Given the description of an element on the screen output the (x, y) to click on. 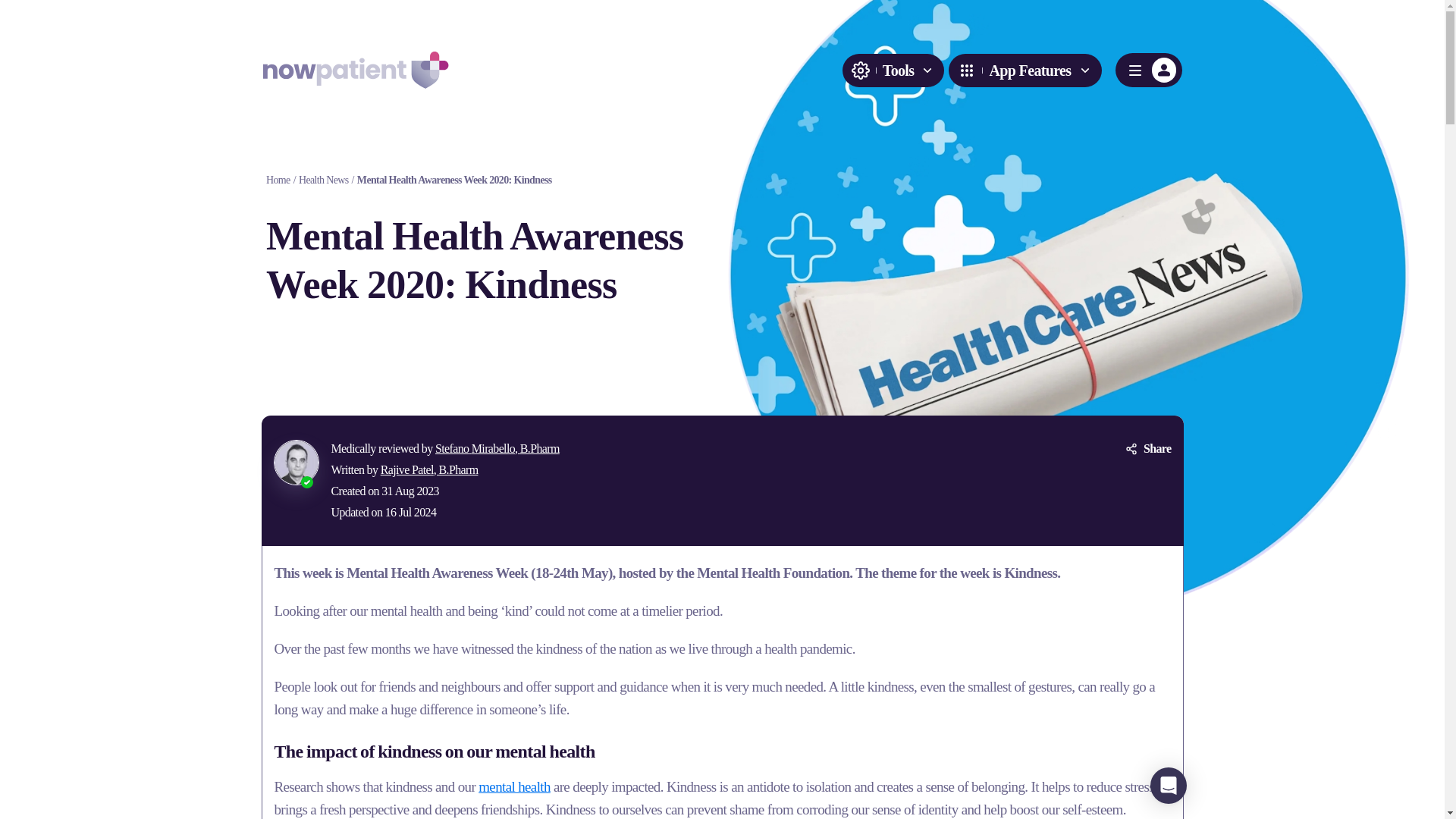
Medically reviewed (374, 448)
Health News (323, 180)
Share (1148, 448)
Stefano Mirabello, B.Pharm (497, 448)
mental health (514, 786)
Rajive Patel, B.Pharm (429, 469)
